Given the description of an element on the screen output the (x, y) to click on. 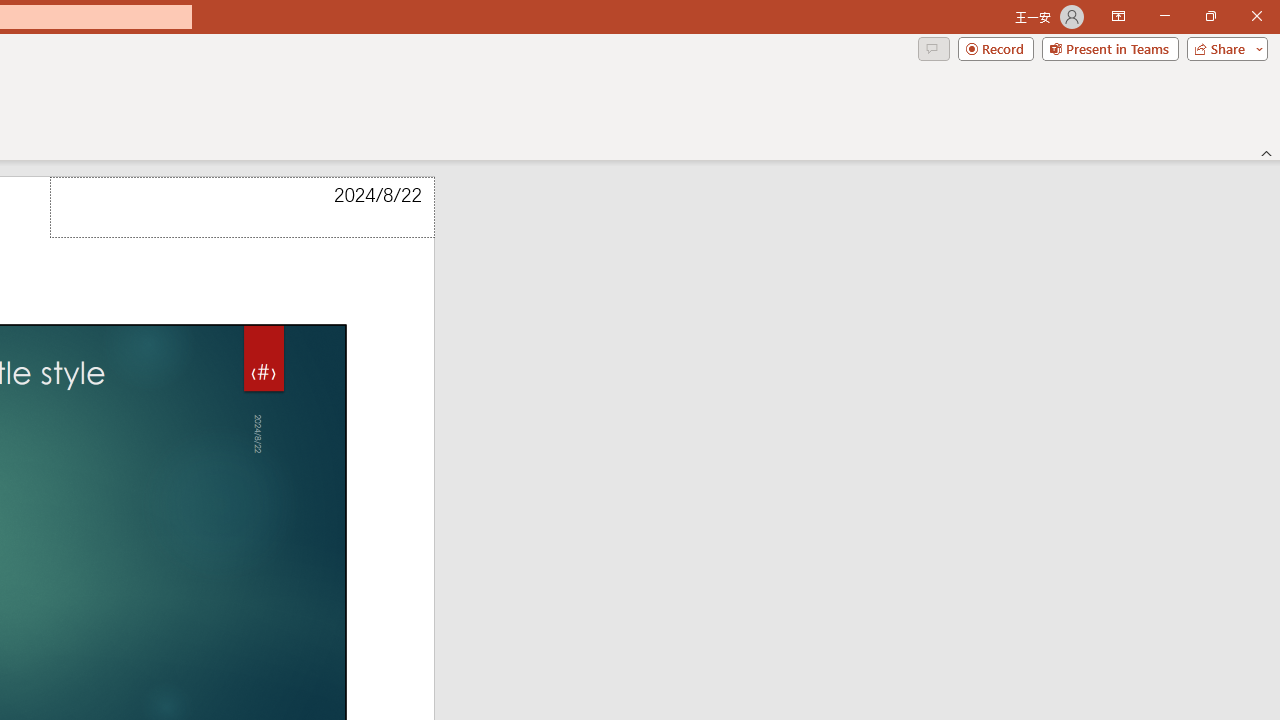
Date (242, 207)
